Given the description of an element on the screen output the (x, y) to click on. 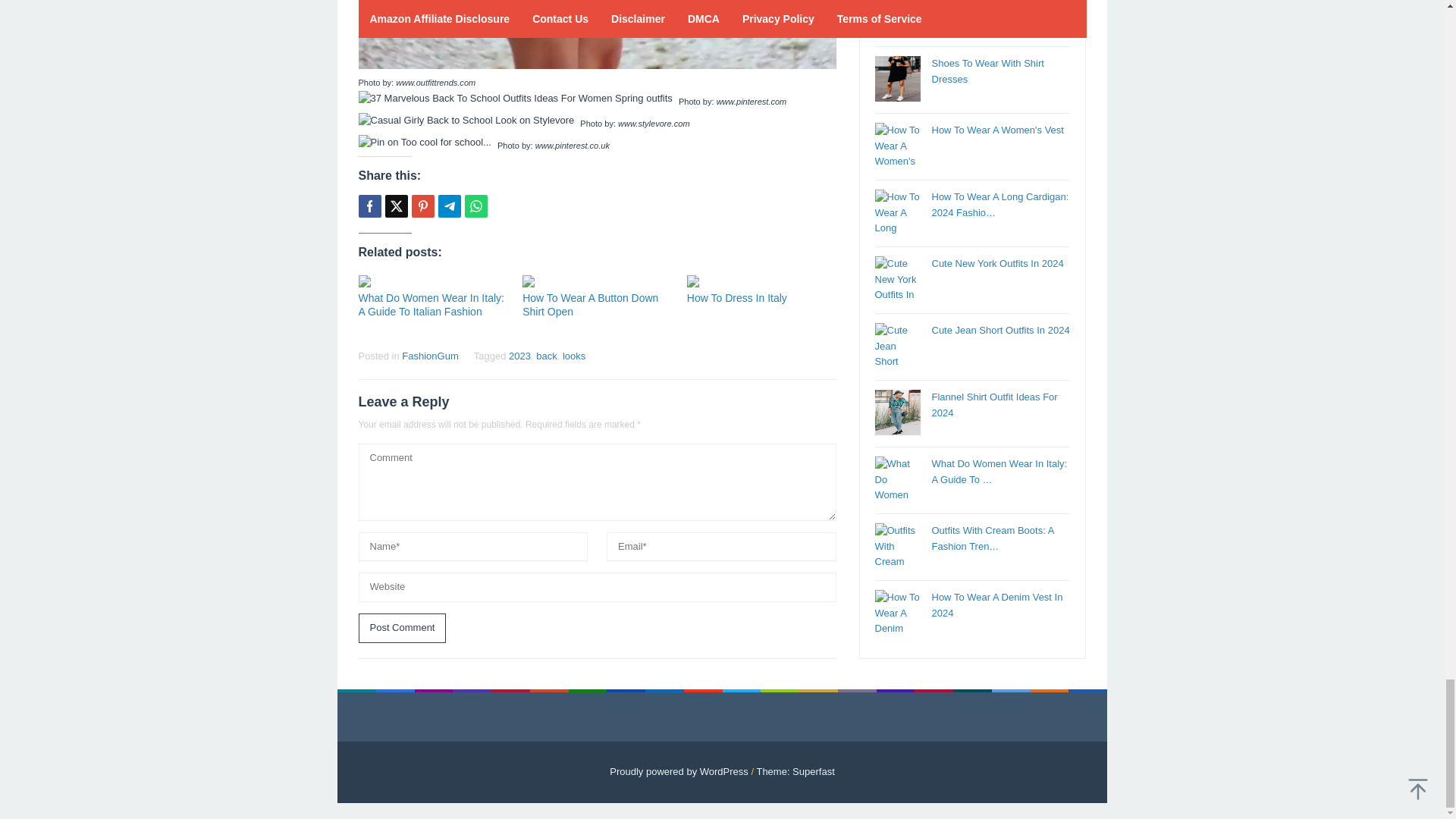
Tweet this (396, 205)
Permalink to: How To Wear A Button Down Shirt Open (596, 281)
Share this (369, 205)
Post Comment (401, 627)
2023 (519, 355)
Post Comment (401, 627)
Pin this (421, 205)
Whatsapp (475, 205)
FashionGum (429, 355)
What Do Women Wear In Italy: A Guide To Italian Fashion (430, 304)
looks (573, 355)
back (545, 355)
How To Dress In Italy (737, 297)
